Given the description of an element on the screen output the (x, y) to click on. 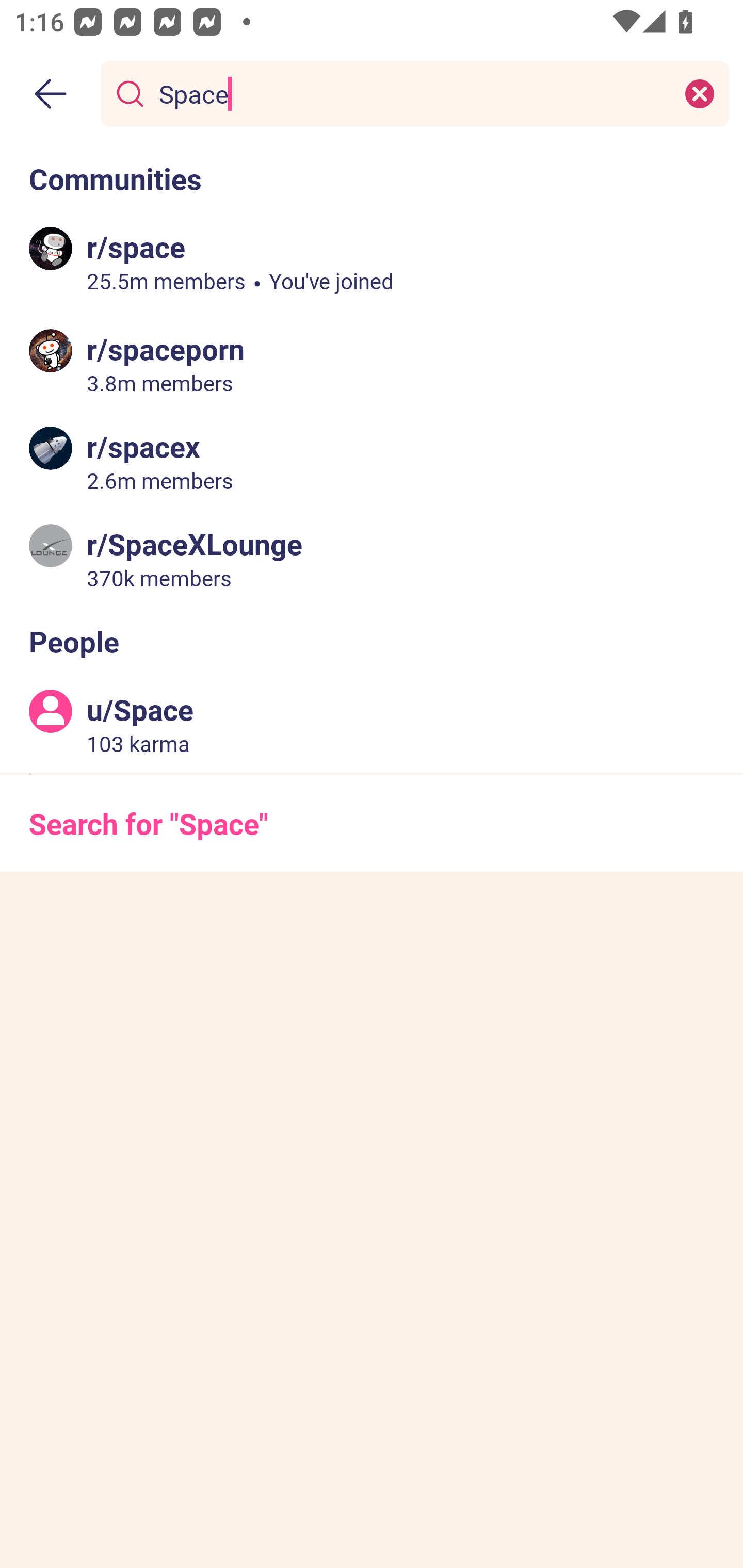
Back (50, 93)
Space (410, 93)
Clear search (699, 93)
r/spaceporn 3.8m members 3.8 million members (371, 363)
r/spacex 2.6m members 2.6 million members (371, 460)
r/SpaceXLounge 370k members 370 thousand members (371, 557)
u/Space 103 karma 103 karma (371, 724)
Search for "Space" (371, 822)
